Given the description of an element on the screen output the (x, y) to click on. 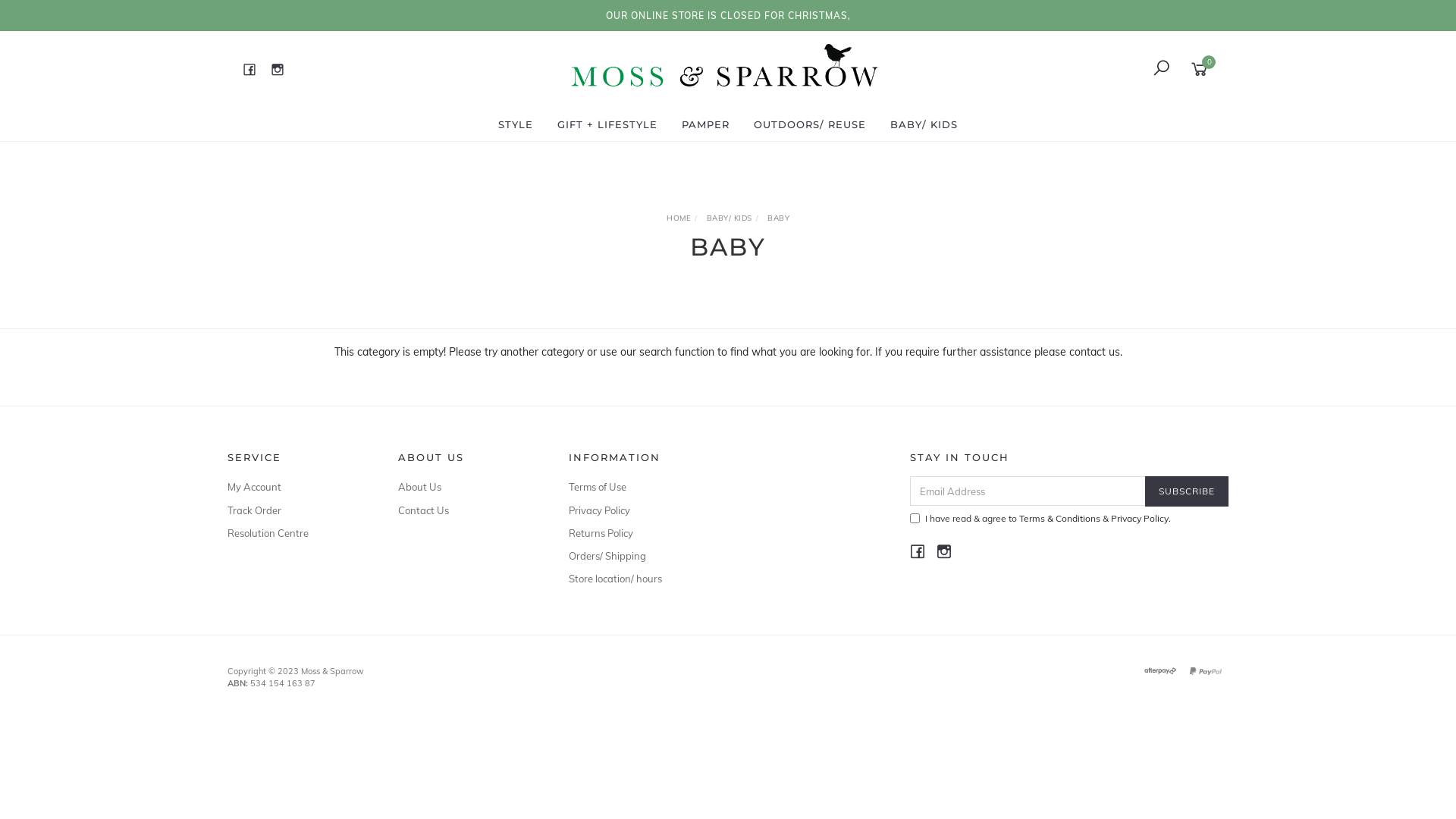
Track Order Element type: text (295, 509)
Orders/ Shipping Element type: text (636, 555)
OUTDOORS/ REUSE Element type: text (809, 124)
About Us Element type: text (466, 486)
Terms & Conditions Element type: text (1059, 518)
BABY/ KIDS Element type: text (923, 124)
Subscribe Element type: text (1186, 490)
Privacy Policy Element type: text (1139, 518)
Resolution Centre Element type: text (295, 532)
BABY Element type: text (778, 217)
0 Element type: text (1202, 68)
STYLE Element type: text (515, 124)
Returns Policy Element type: text (636, 532)
OUR ONLINE STORE IS CLOSED FOR CHRISTMAS, Element type: text (727, 15)
GIFT + LIFESTYLE Element type: text (607, 124)
Terms of Use Element type: text (636, 486)
Store location/ hours Element type: text (636, 578)
BABY/ KIDS Element type: text (729, 217)
Moss & Sparrow Element type: hover (726, 68)
HOME Element type: text (678, 217)
My Account Element type: text (295, 486)
PAMPER Element type: text (705, 124)
Contact Us Element type: text (466, 509)
Privacy Policy Element type: text (636, 509)
